Given the description of an element on the screen output the (x, y) to click on. 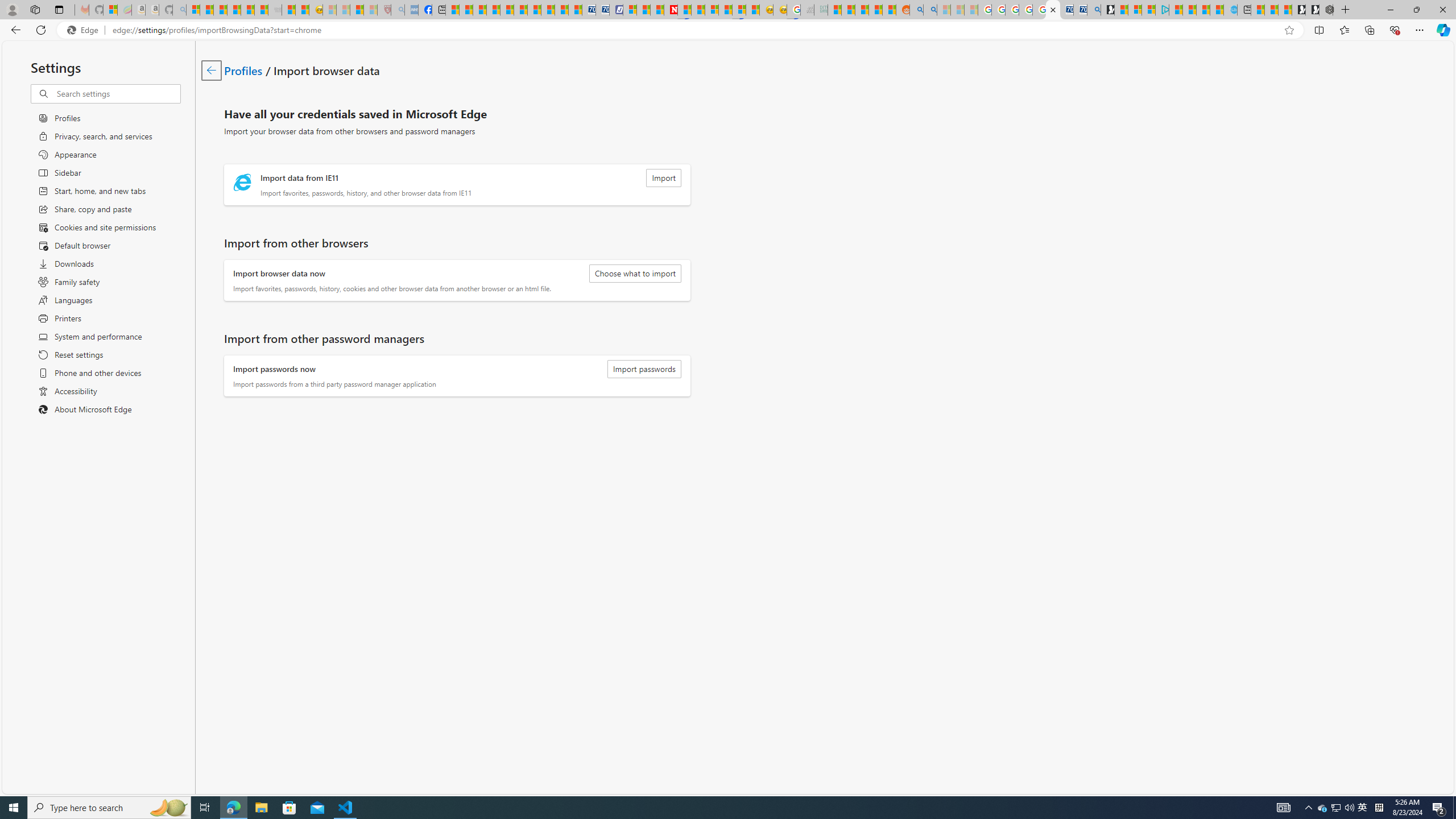
Newsweek - News, Analysis, Politics, Business, Technology (670, 9)
Utah sues federal government - Search (930, 9)
